Given the description of an element on the screen output the (x, y) to click on. 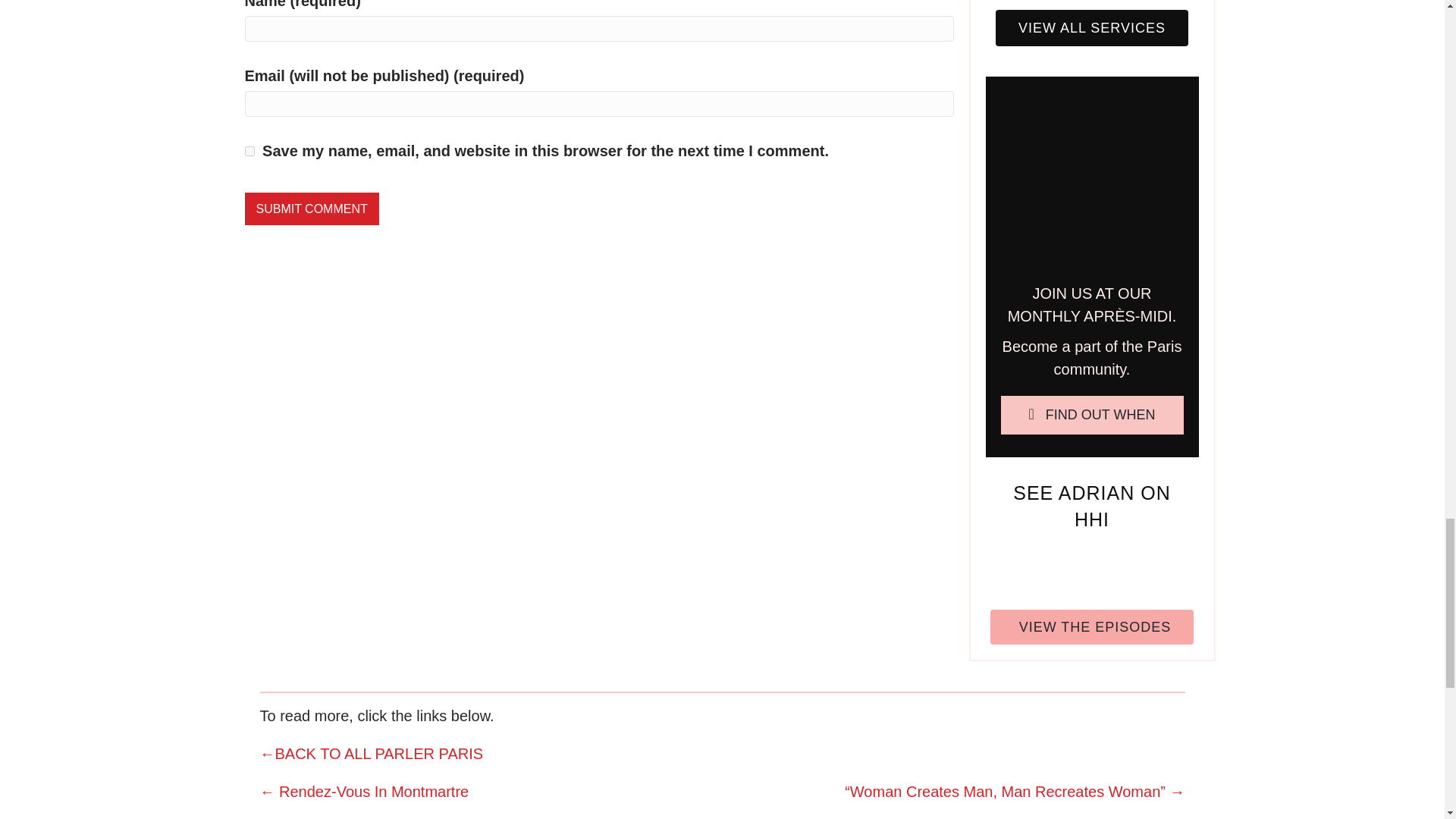
Submit Comment (311, 208)
yes (248, 151)
